Given the description of an element on the screen output the (x, y) to click on. 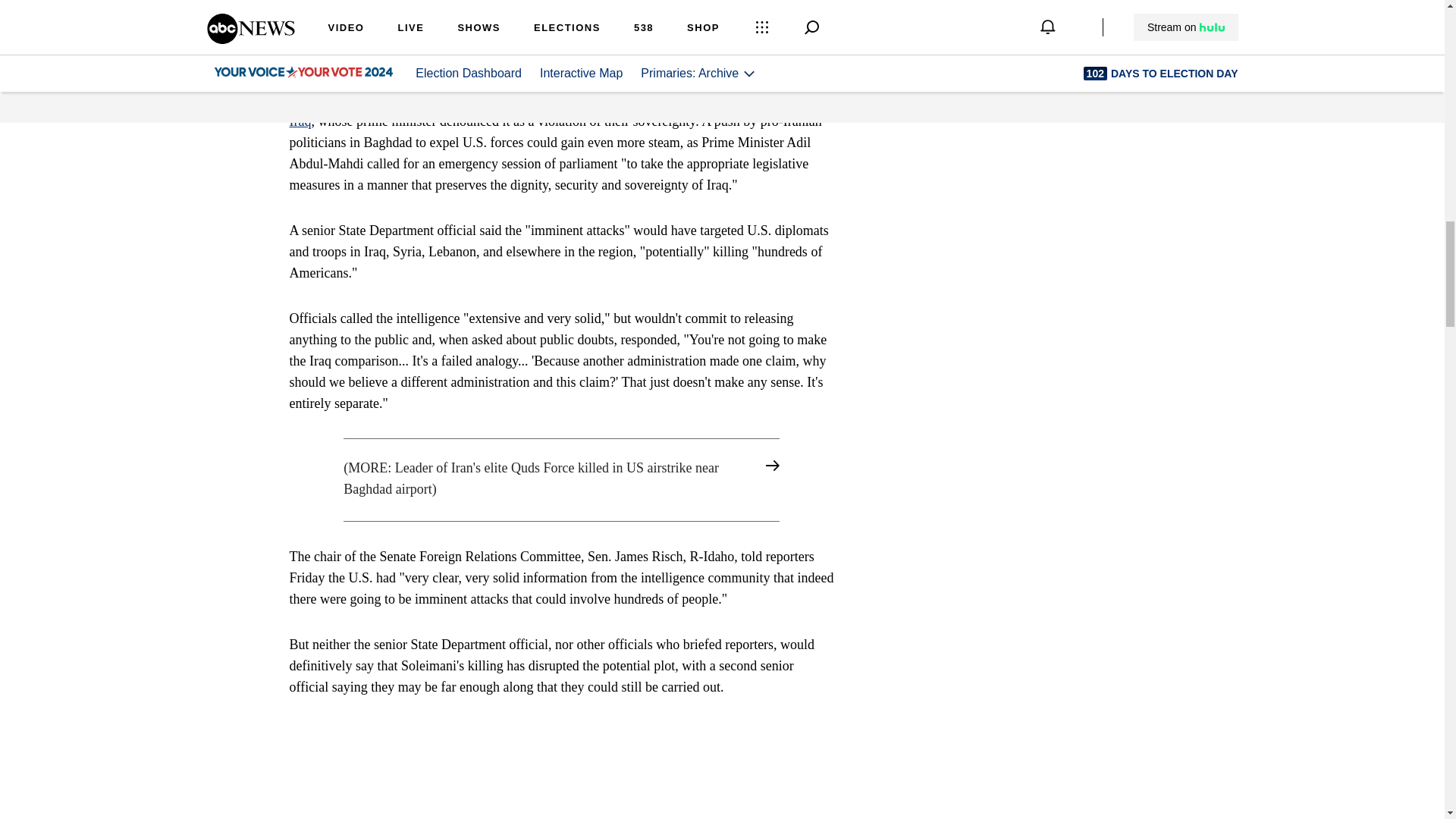
Iraq (300, 120)
Show more (801, 42)
